Given the description of an element on the screen output the (x, y) to click on. 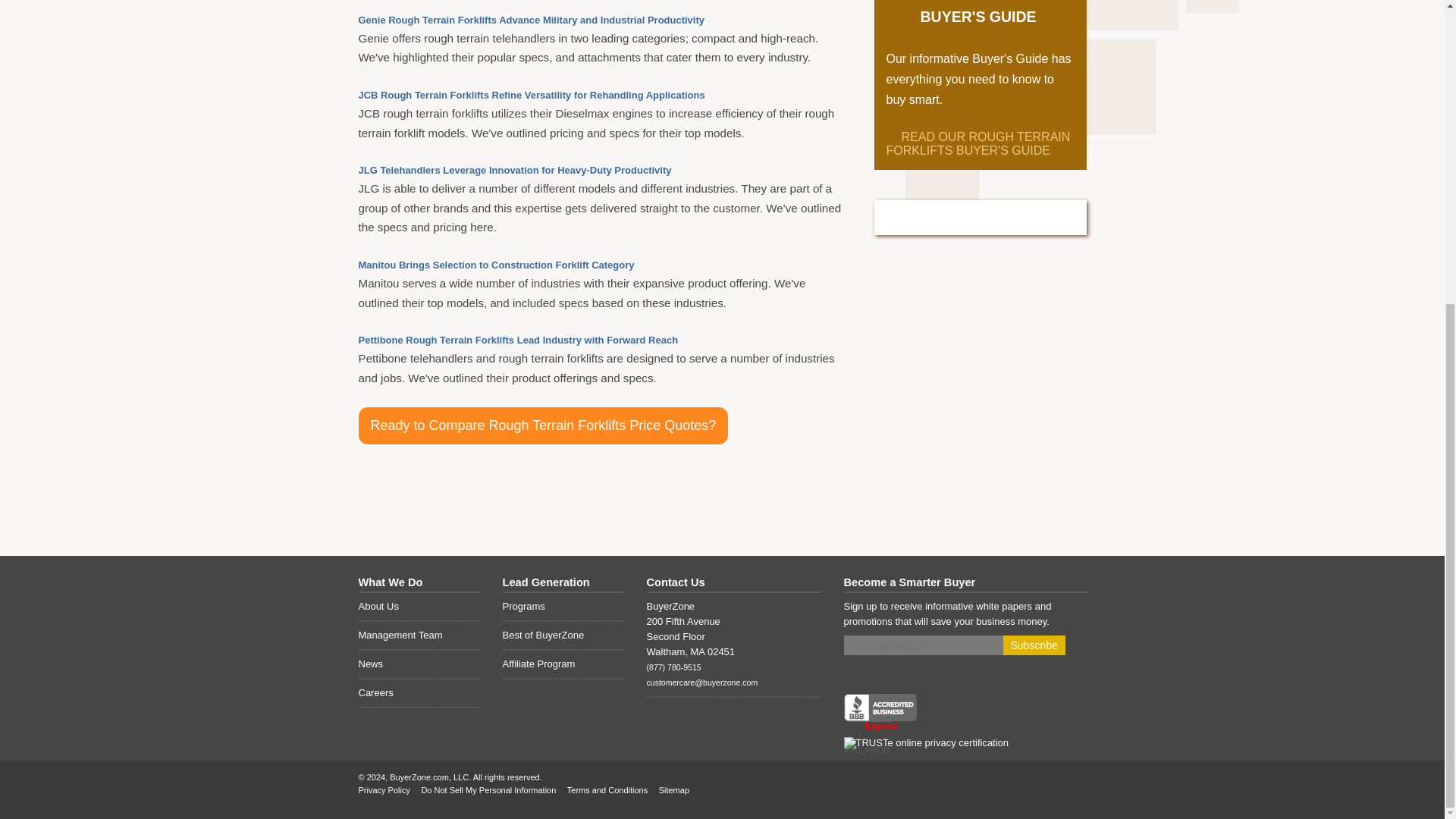
Subscribe (1033, 645)
Management Team (418, 635)
Programs (562, 606)
Best of BuyerZone (562, 635)
About Us (418, 606)
TRUSTe online privacy certification (926, 743)
BuyerZone.com, LLC BBB Business Review (879, 712)
Manitou Brings Selection to Construction Forklift Category (495, 265)
Ready to Compare Rough Terrain Forklifts Price Quotes? (543, 425)
News (418, 664)
READ OUR ROUGH TERRAIN FORKLIFTS BUYER'S GUIDE (977, 143)
